Given the description of an element on the screen output the (x, y) to click on. 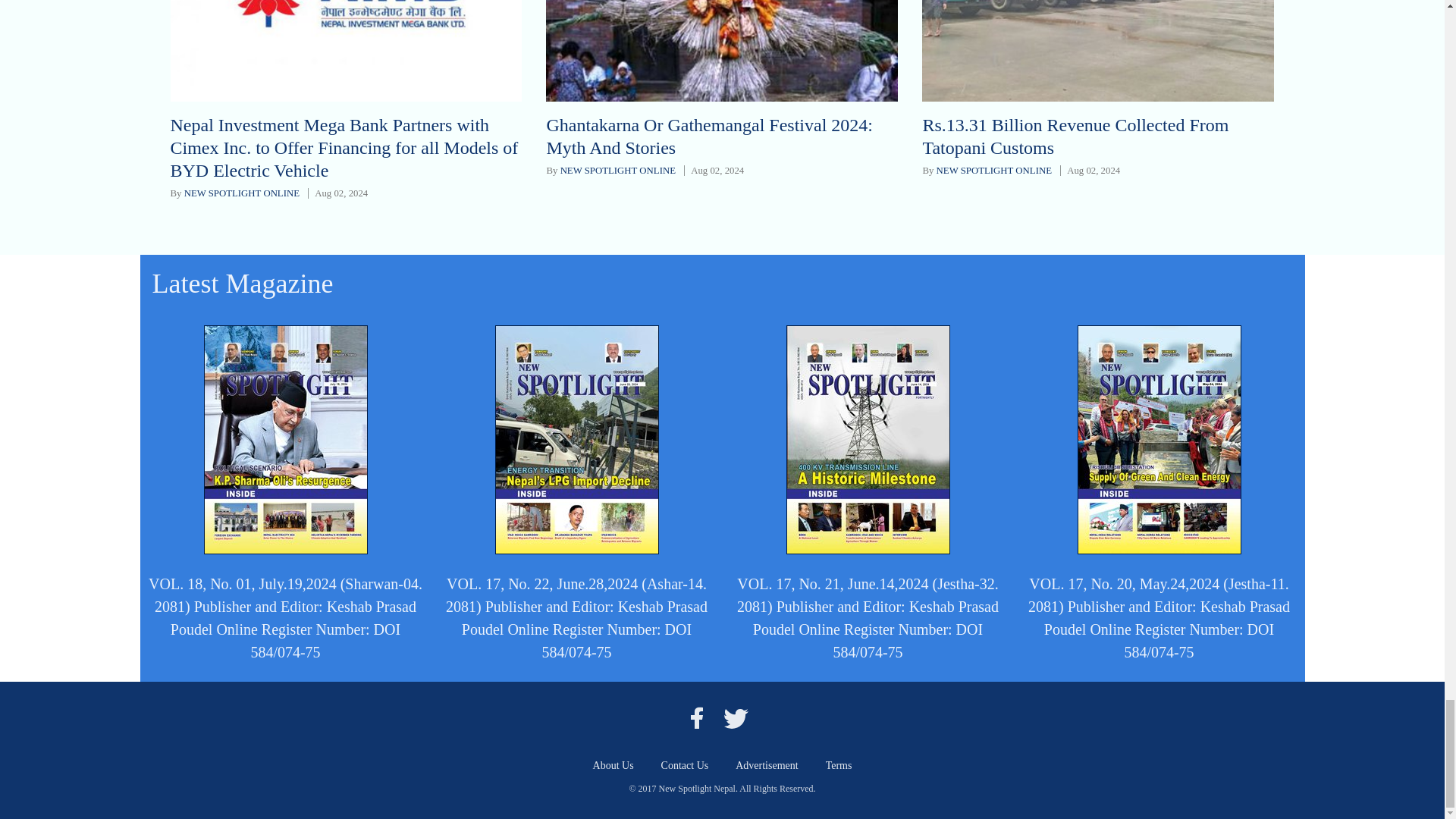
twitter icon (735, 717)
Spotlight Nepal Twitter (735, 717)
facebook icon (695, 717)
Spotlight Nepal Facebook (695, 717)
